Given the description of an element on the screen output the (x, y) to click on. 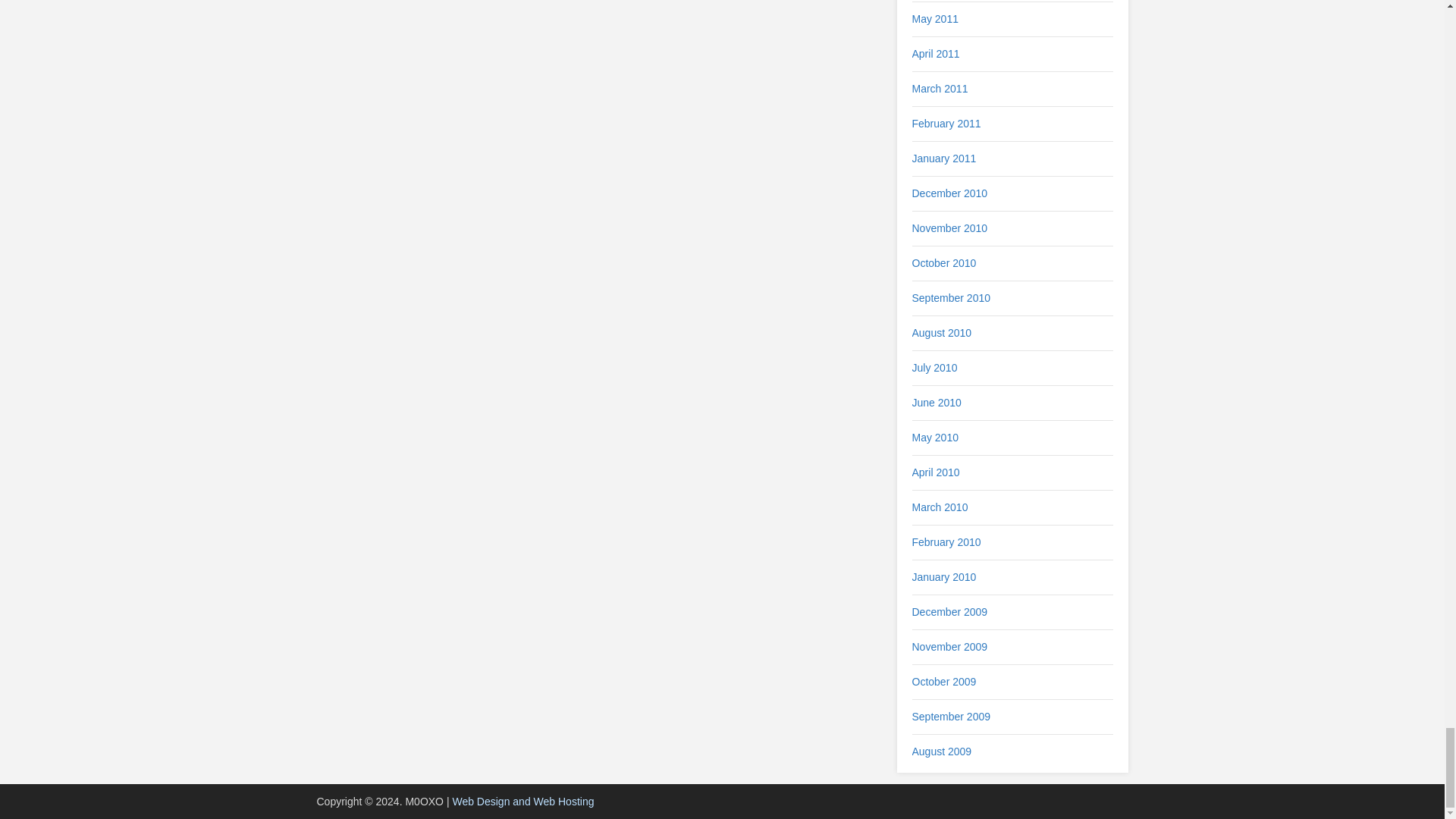
BarclayJames Web Design (522, 801)
